Given the description of an element on the screen output the (x, y) to click on. 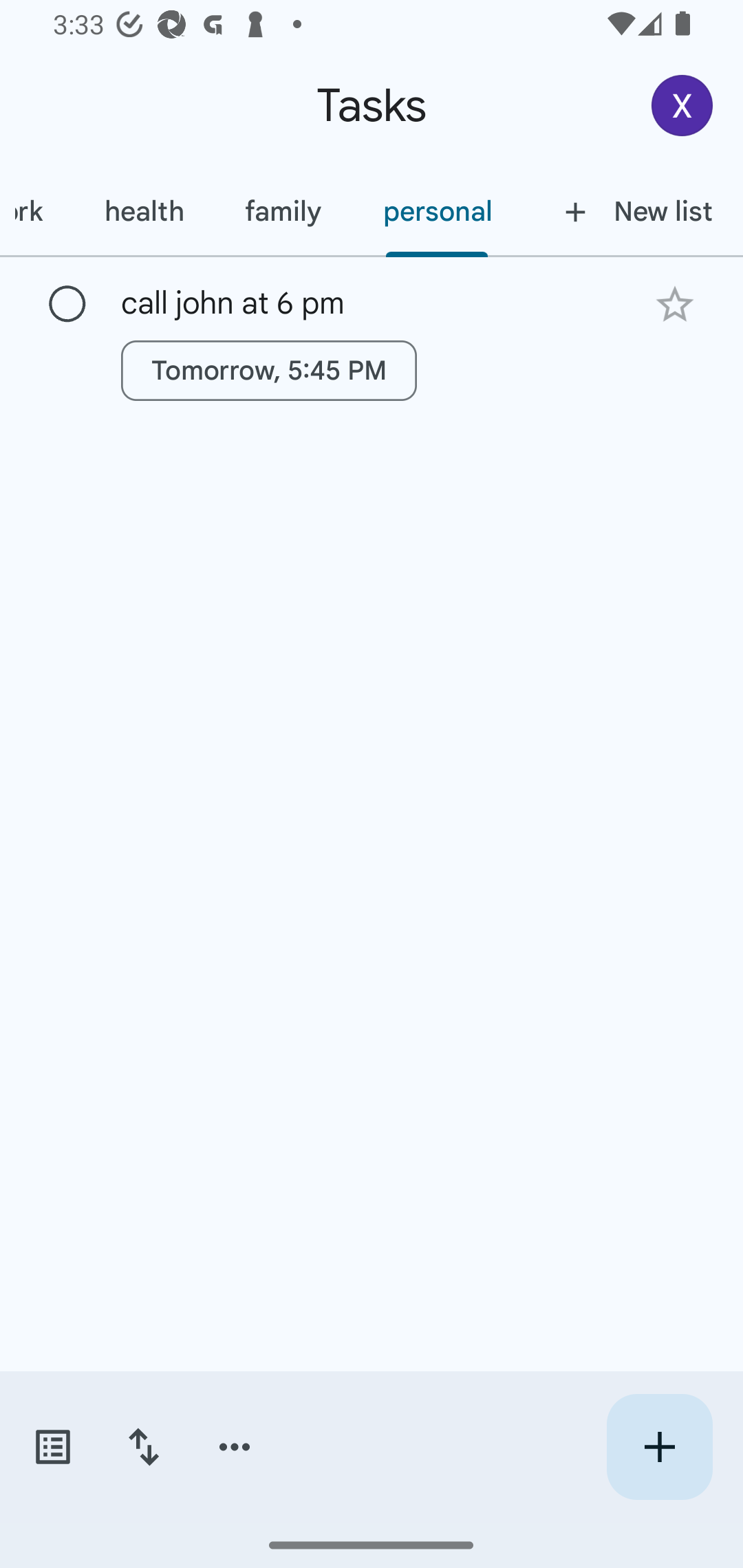
work (36, 211)
health (143, 211)
family (282, 211)
New list (632, 211)
Add star (674, 303)
Mark as complete (67, 304)
Tomorrow, 5:45 PM (268, 369)
Switch task lists (52, 1447)
Create new task (659, 1446)
Change sort order (143, 1446)
More options (234, 1446)
